Given the description of an element on the screen output the (x, y) to click on. 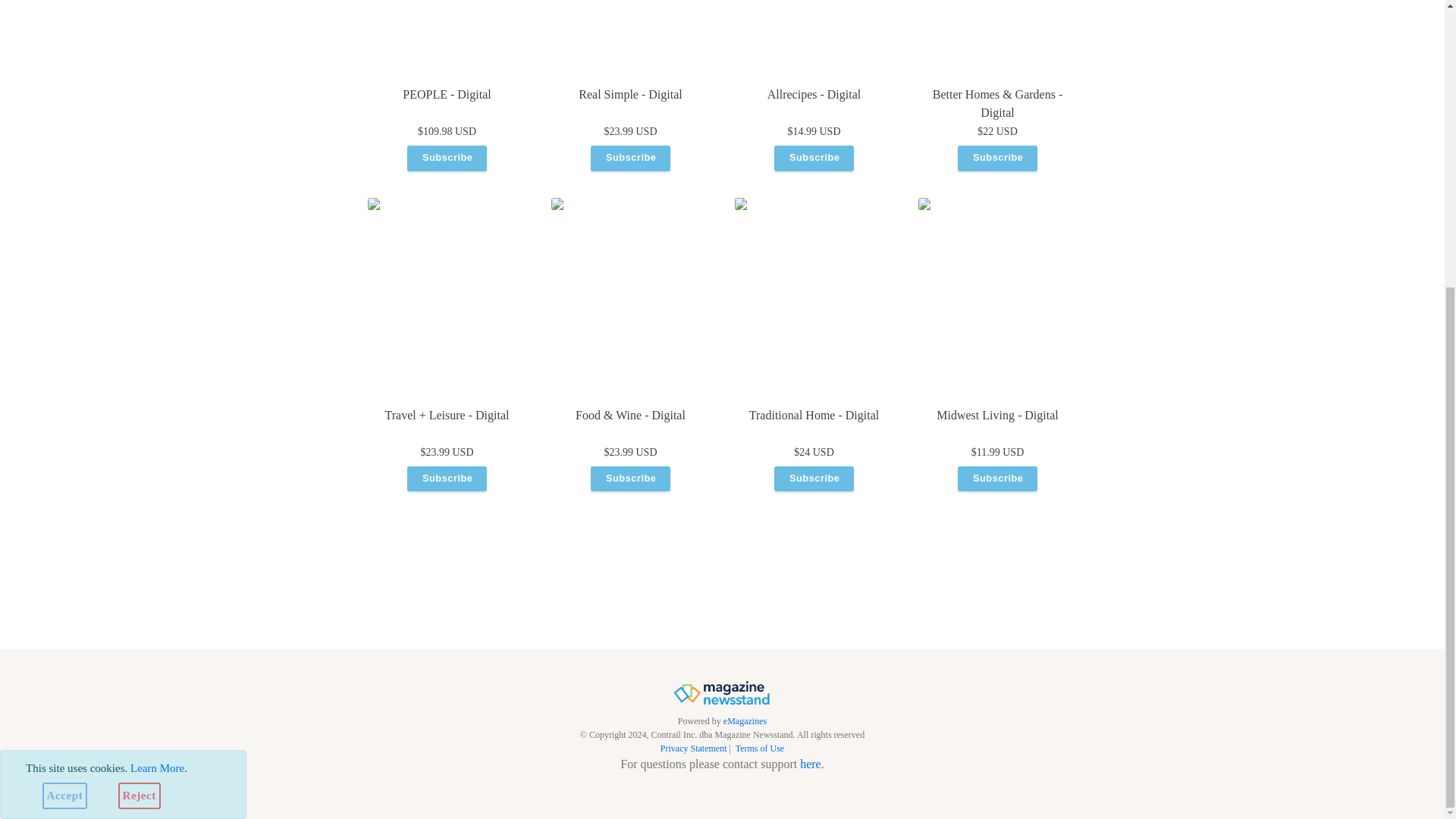
Subscribe (813, 479)
Learn More (157, 334)
Subscribe (630, 158)
Subscribe (630, 158)
Subscribe (630, 479)
Subscribe (813, 158)
eMagazines (745, 720)
Reject (138, 361)
Privacy Statement (693, 747)
Subscribe (997, 158)
